Given the description of an element on the screen output the (x, y) to click on. 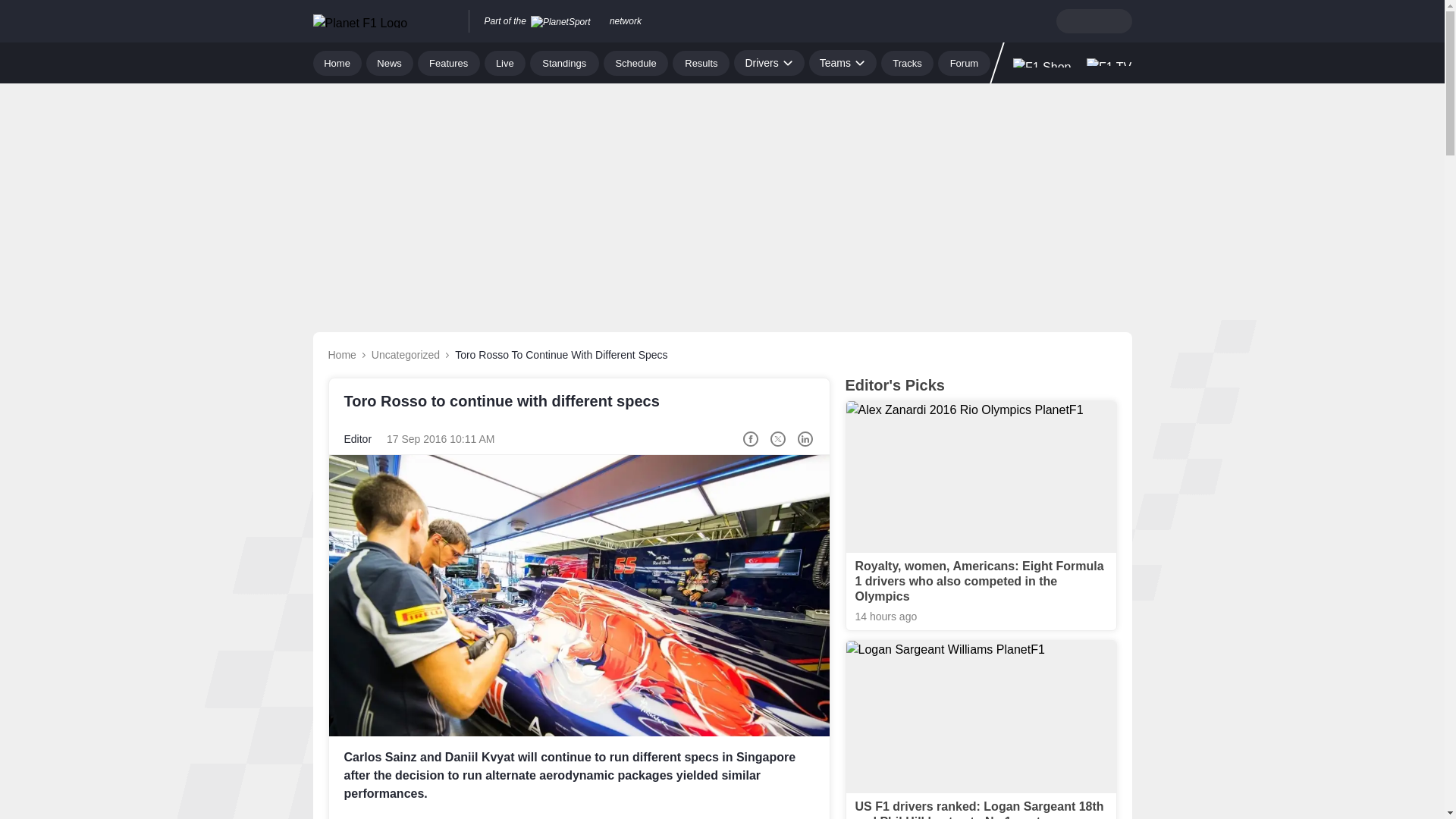
Live (504, 62)
Schedule (636, 62)
Teams (842, 62)
Results (700, 62)
Home (337, 62)
Standings (563, 62)
Features (448, 62)
News (389, 62)
Drivers (768, 62)
